Given the description of an element on the screen output the (x, y) to click on. 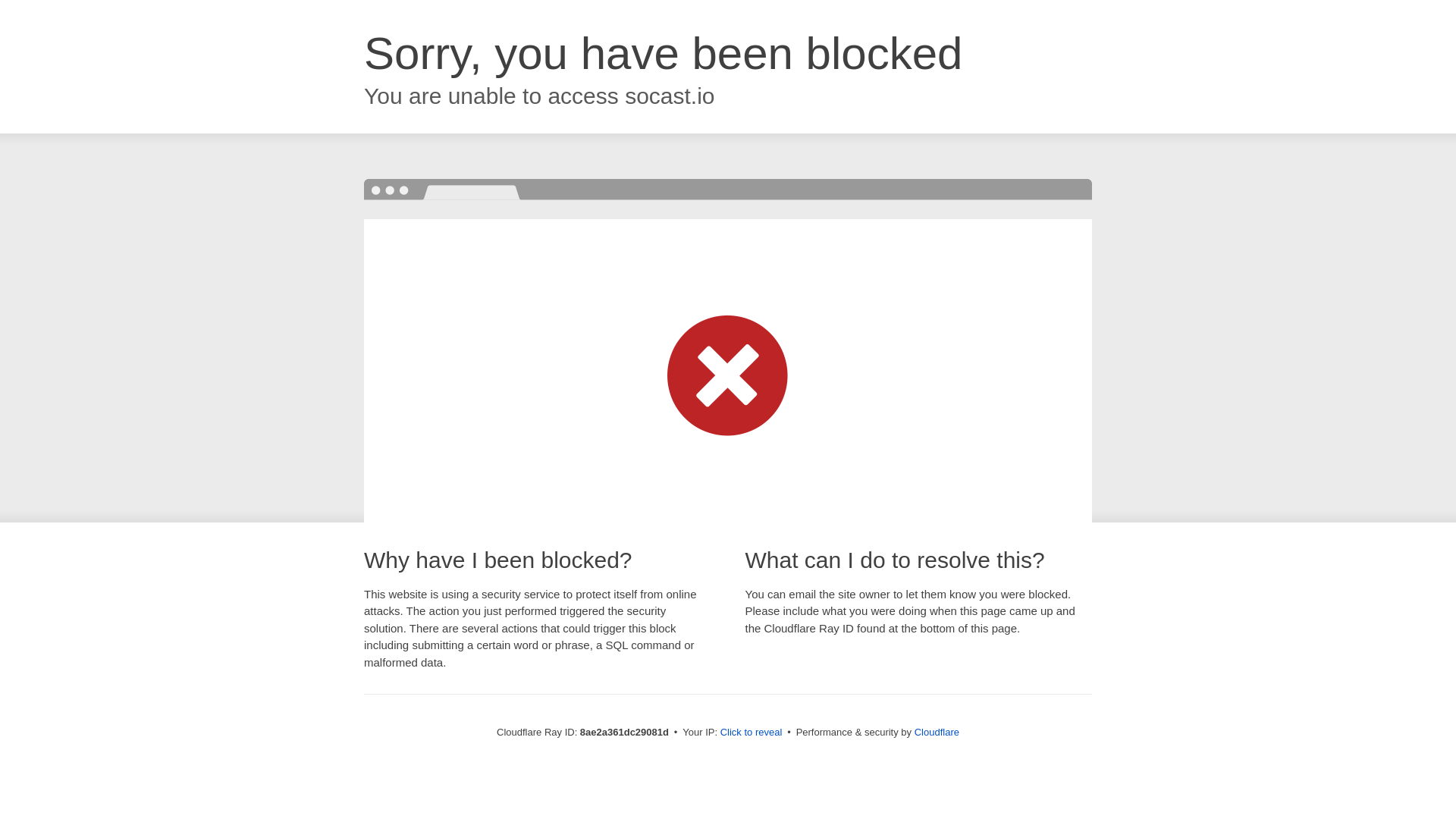
Cloudflare (936, 731)
Click to reveal (751, 732)
